Given the description of an element on the screen output the (x, y) to click on. 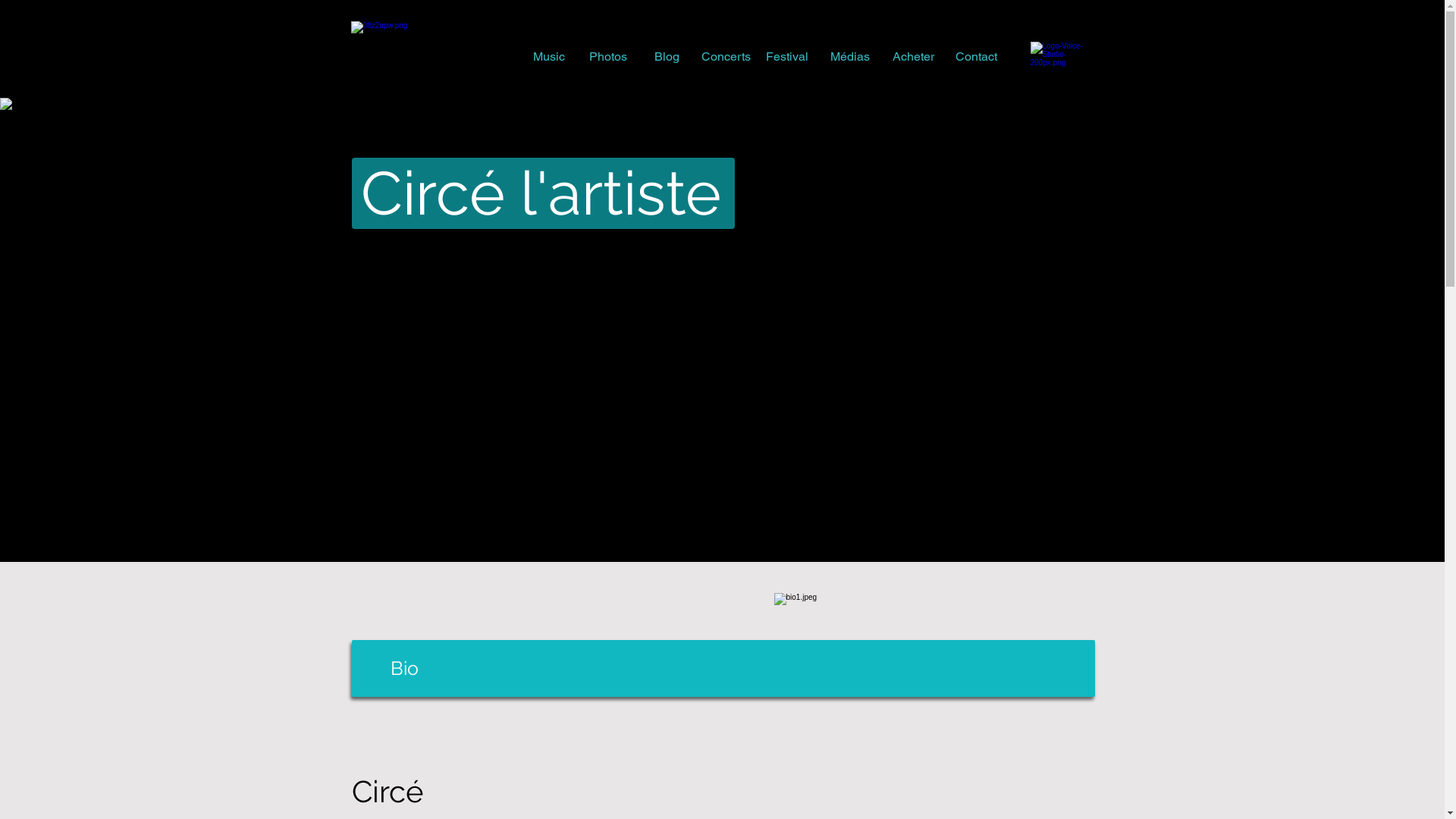
Concerts Element type: text (725, 56)
Festival Element type: text (786, 56)
Photos Element type: text (607, 56)
Acheter Element type: text (912, 56)
Blog Element type: text (666, 56)
Contact Element type: text (975, 56)
Music Element type: text (547, 56)
